Given the description of an element on the screen output the (x, y) to click on. 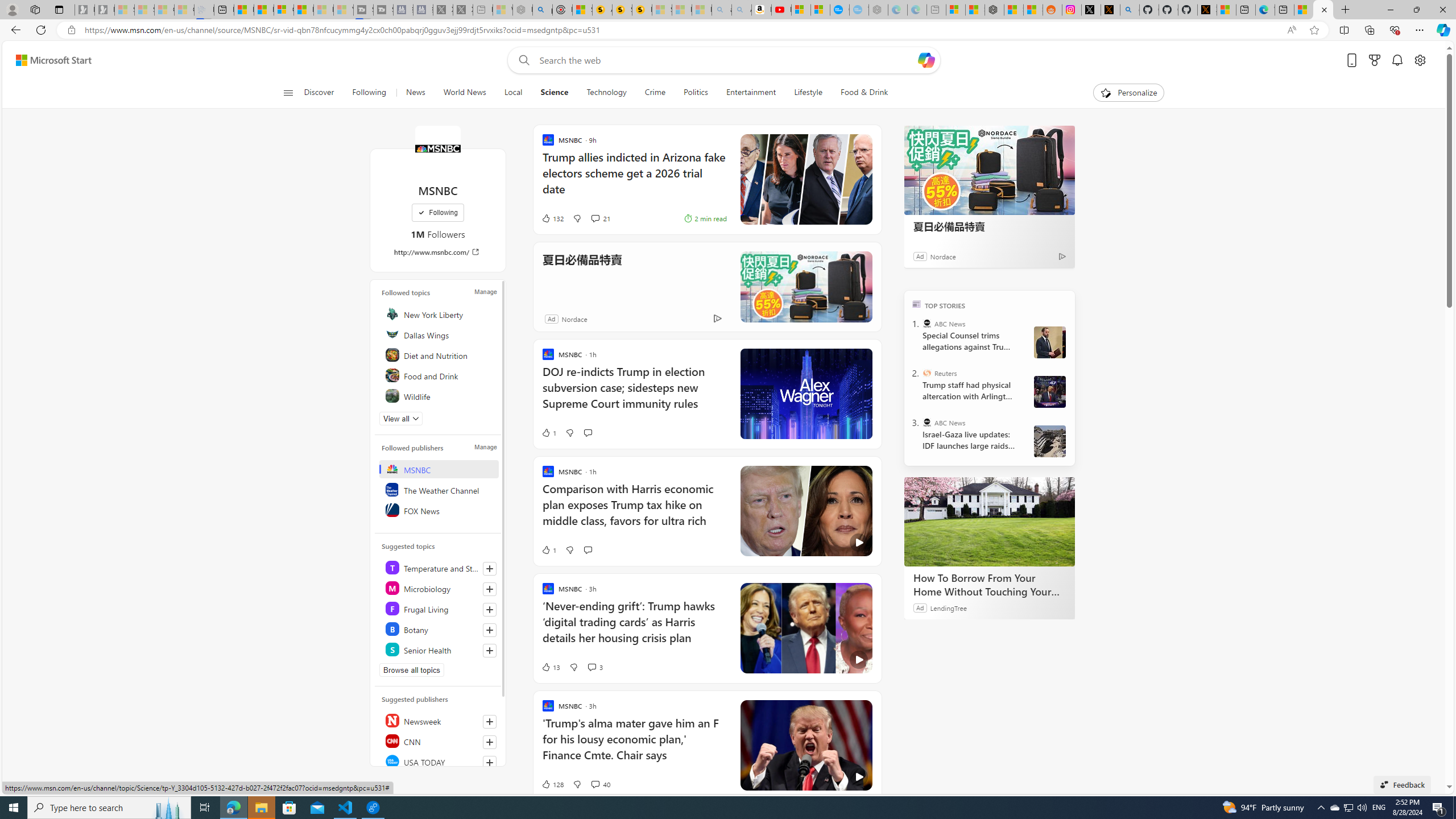
The Weather Channel (439, 489)
Day 1: Arriving in Yemen (surreal to be here) - YouTube (781, 9)
Class: highlight (439, 649)
Michelle Starr, Senior Journalist at ScienceAlert (641, 9)
Class: hero-image (805, 745)
Science (554, 92)
Technology (606, 92)
